Given the description of an element on the screen output the (x, y) to click on. 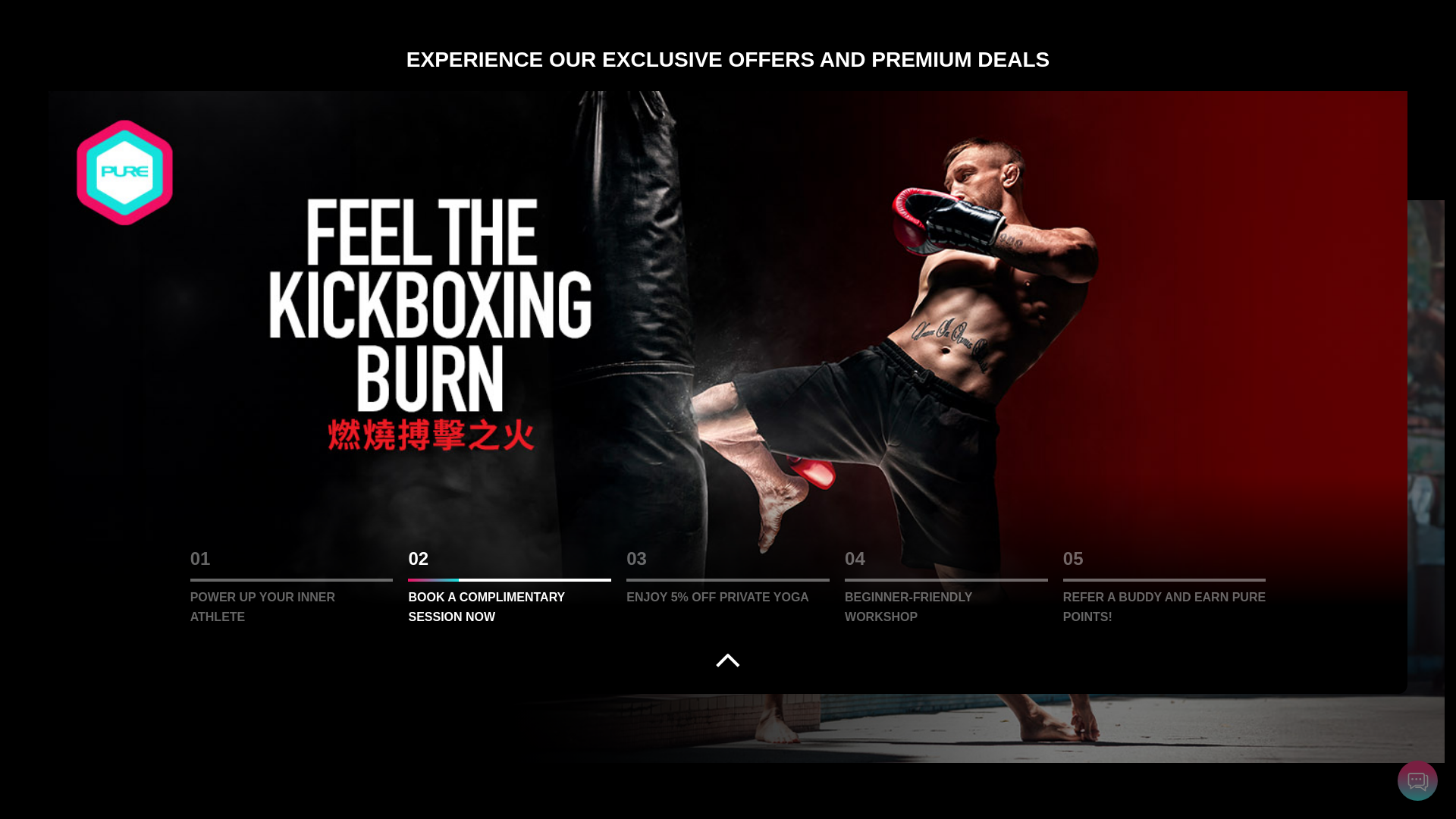
LOCATIONS (538, 44)
REFORMER PILATES (419, 44)
BOOK A TOUR (1221, 45)
FITNESS (292, 44)
JOIN US (620, 44)
YOGA (209, 44)
HAPPENINGS (192, 169)
HAPPENINGS (708, 44)
